Given the description of an element on the screen output the (x, y) to click on. 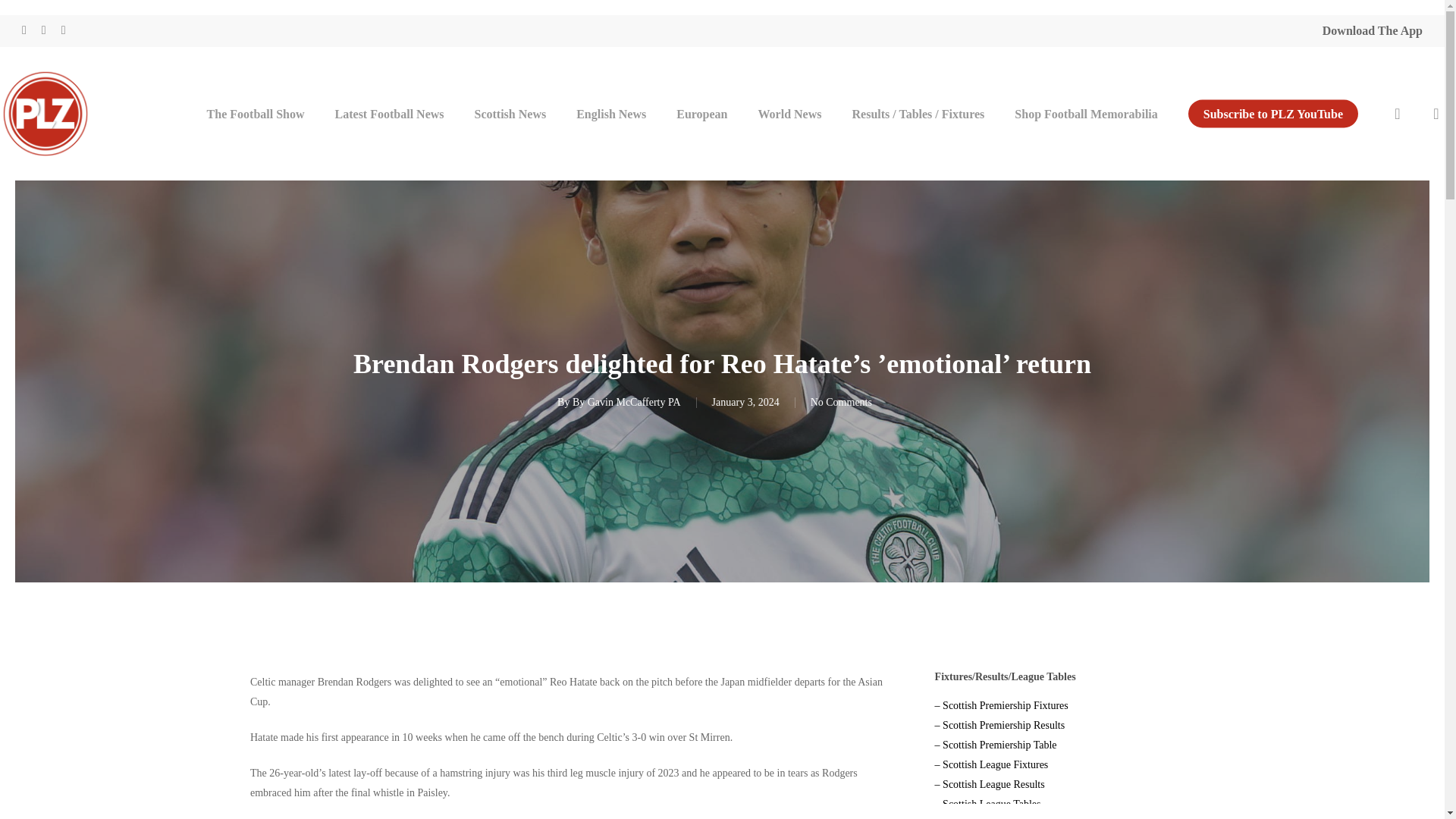
The Football Show (256, 112)
Scottish News (511, 112)
Download The App (1372, 30)
Posts by By Gavin McCafferty PA (626, 401)
World News (789, 112)
English News (610, 112)
Shop Football Memorabilia (1085, 112)
European (701, 112)
Latest Football News (390, 112)
